Given the description of an element on the screen output the (x, y) to click on. 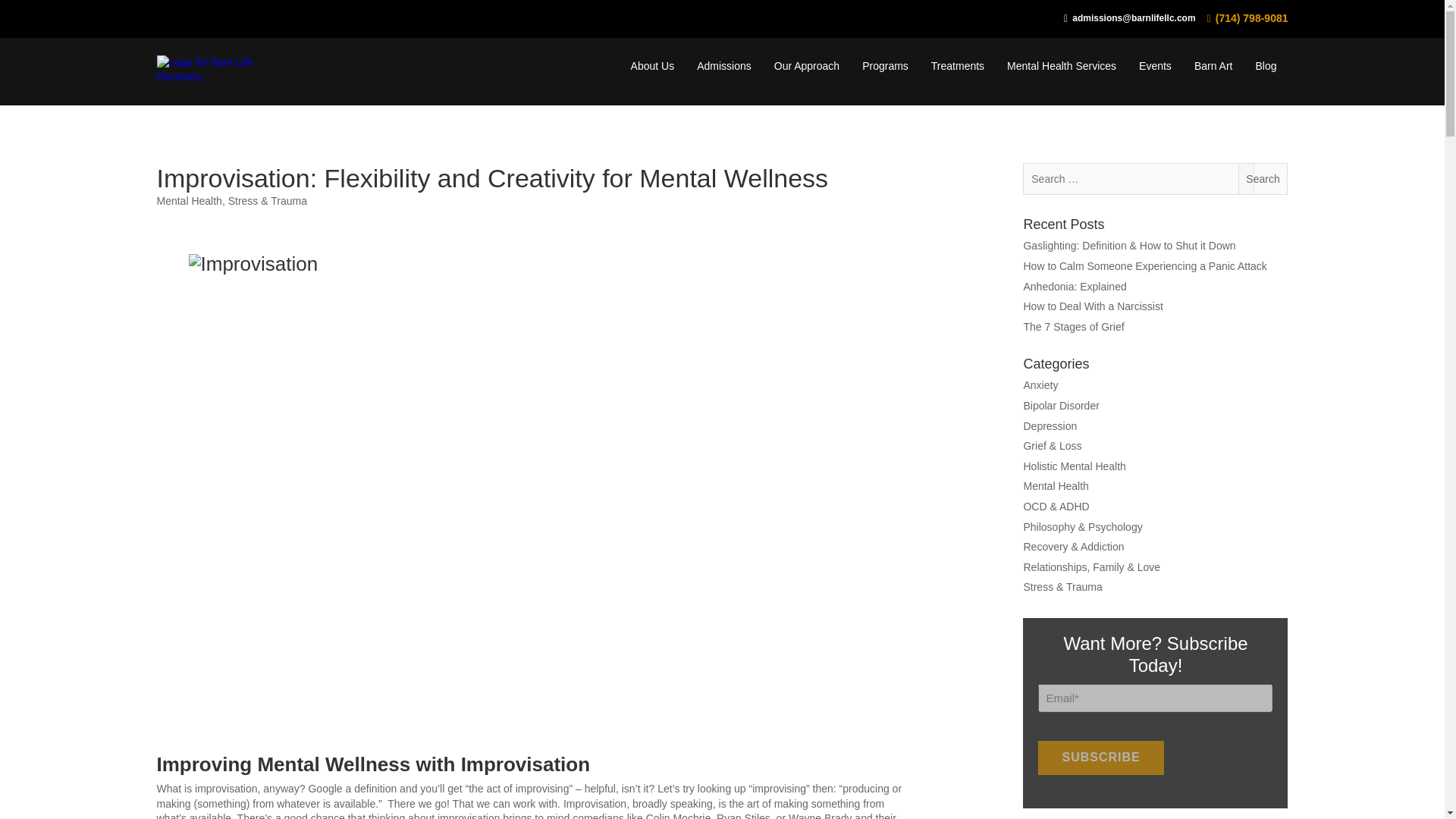
Events (1155, 65)
Programs (884, 65)
Mental Health Services (1061, 65)
Blog (1265, 65)
Search (1263, 178)
Search (1263, 178)
SUBSCRIBE (1100, 757)
Our Approach (807, 65)
Admissions (724, 65)
Barn Art (1213, 65)
